Given the description of an element on the screen output the (x, y) to click on. 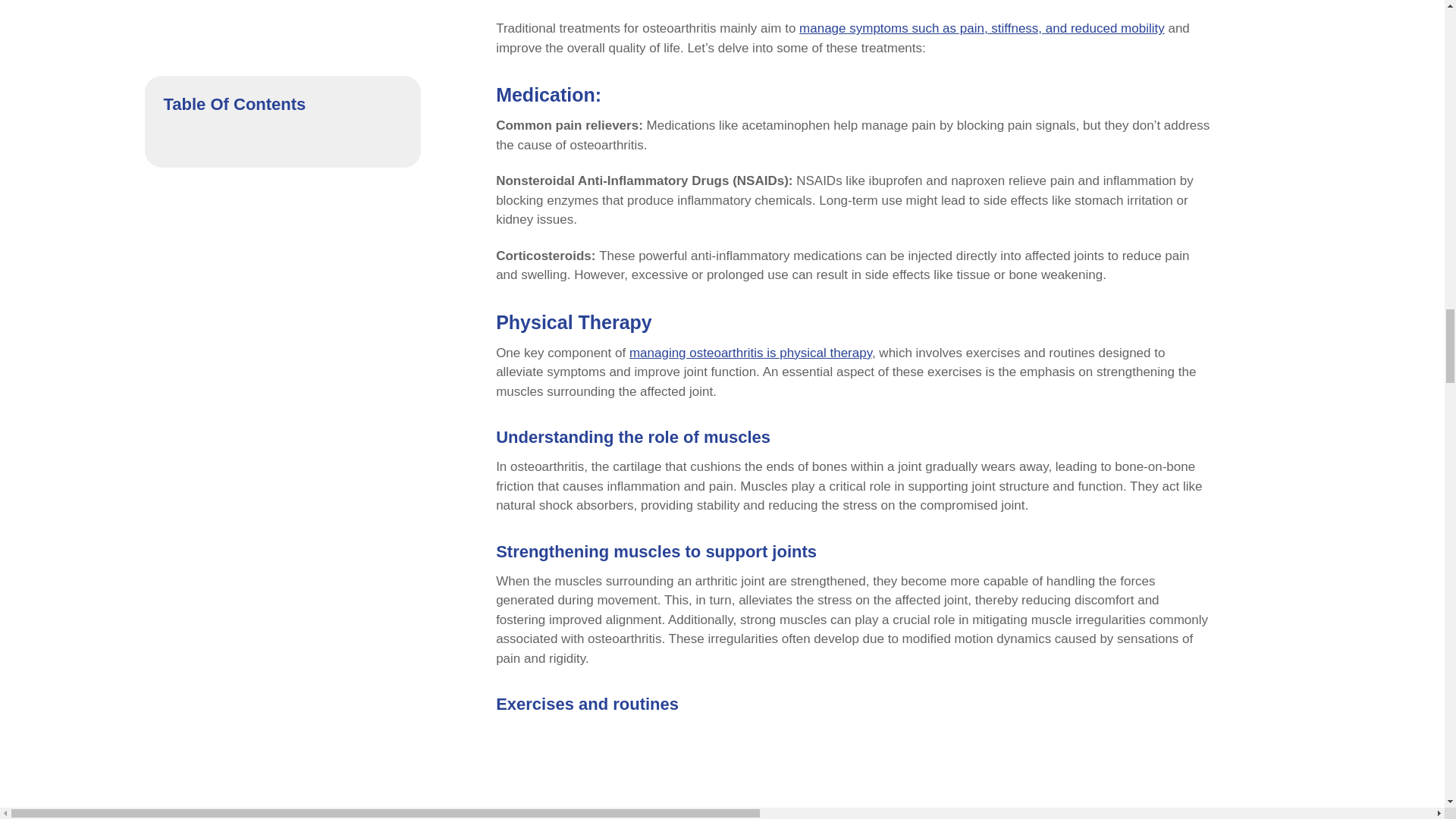
managing osteoarthritis is physical therapy (750, 352)
